Given the description of an element on the screen output the (x, y) to click on. 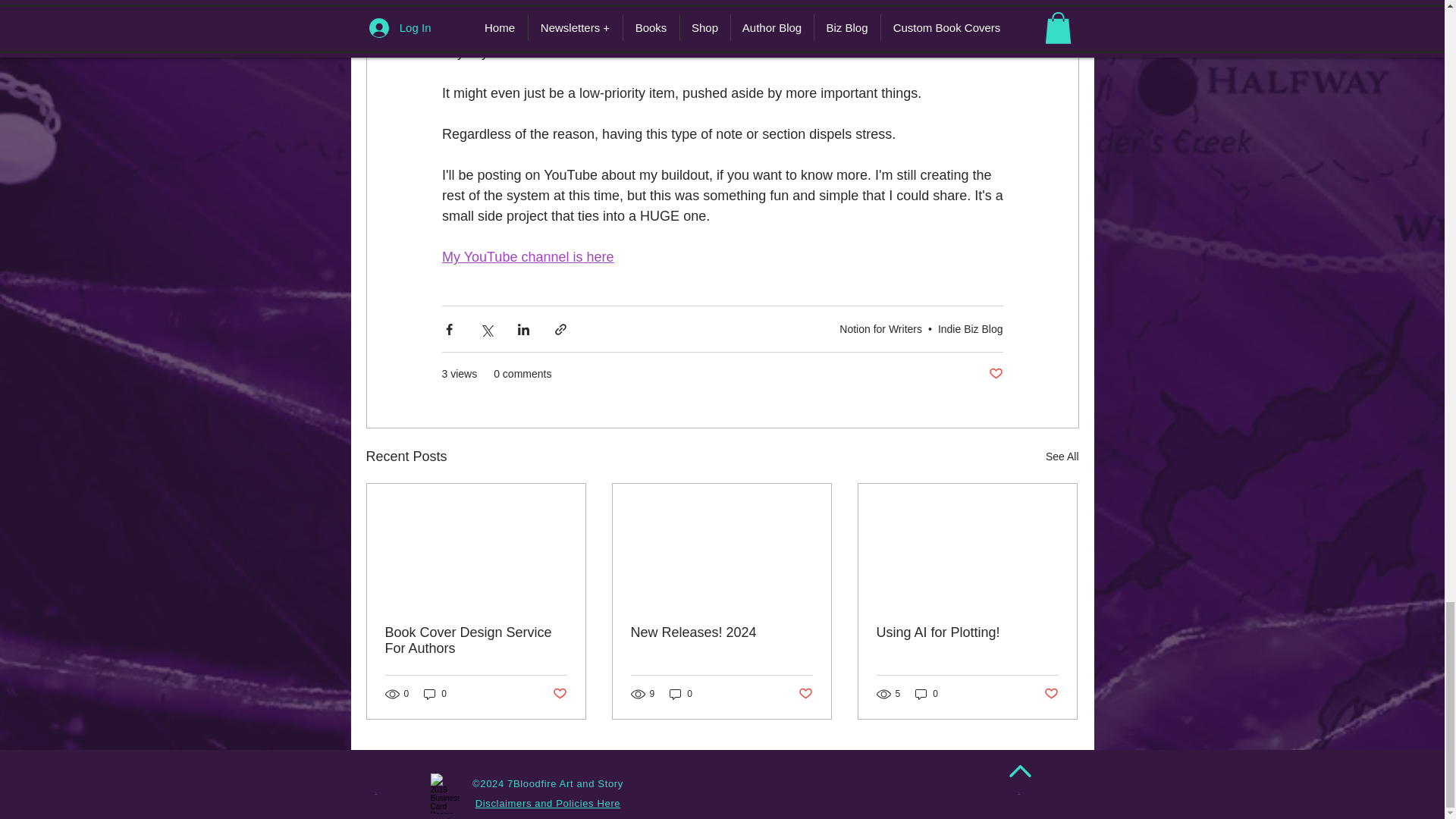
Book Cover Design Service For Authors (476, 640)
See All (1061, 456)
Indie Biz Blog (970, 328)
My YouTube channel is here (526, 256)
0 (681, 694)
0 (435, 694)
Post not marked as liked (995, 374)
Post not marked as liked (558, 693)
New Releases! 2024 (721, 632)
Post not marked as liked (804, 693)
Notion for Writers (880, 328)
